Given the description of an element on the screen output the (x, y) to click on. 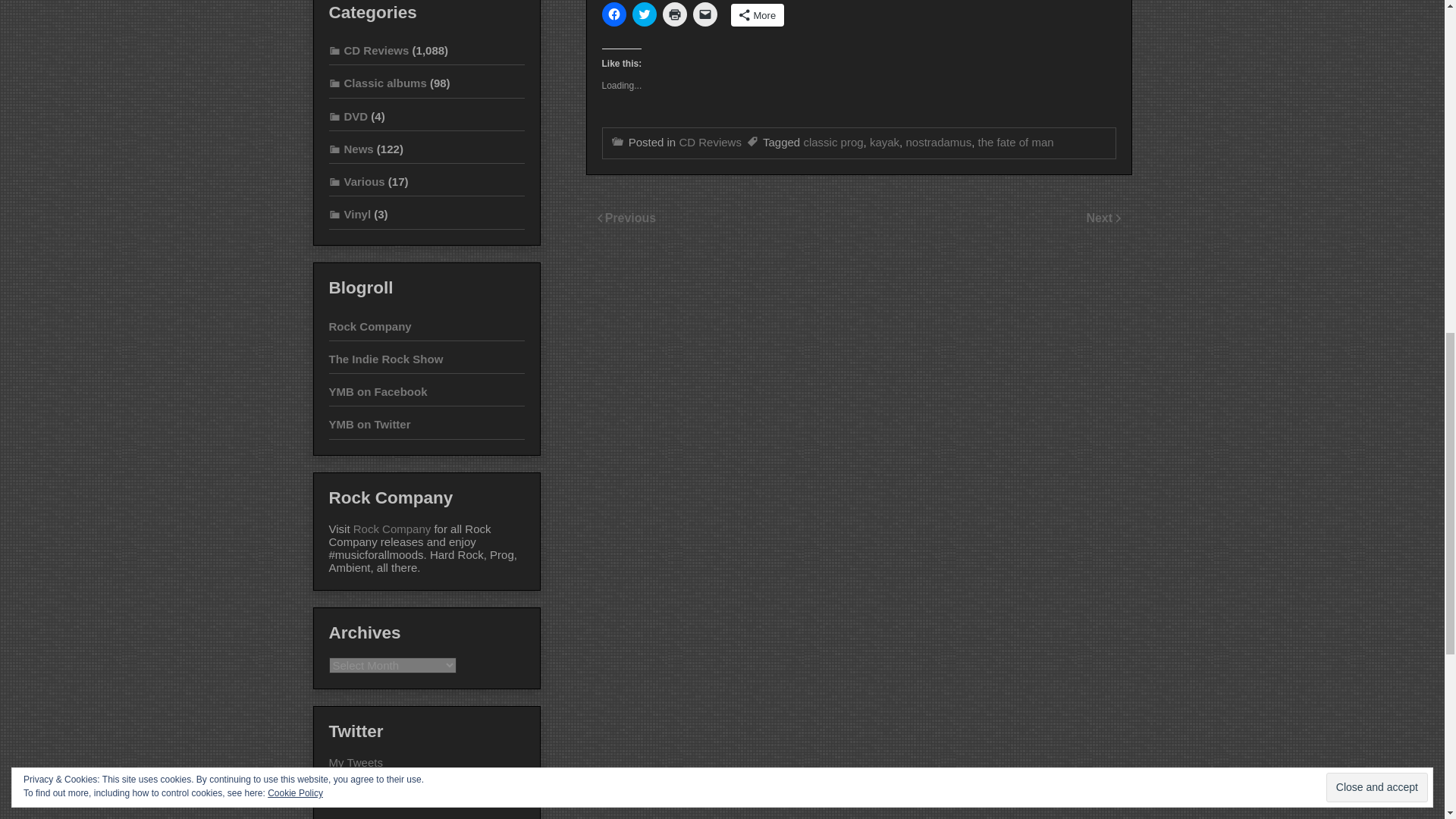
News (351, 148)
DVD (348, 115)
nostradamus (938, 141)
classic prog (833, 141)
Click to share on Twitter (643, 14)
Next (1100, 217)
Various (357, 181)
the fate of man (1016, 141)
Classic albums (377, 82)
The Indie Rock show podcast on Future Beautiful Radio (386, 358)
